Given the description of an element on the screen output the (x, y) to click on. 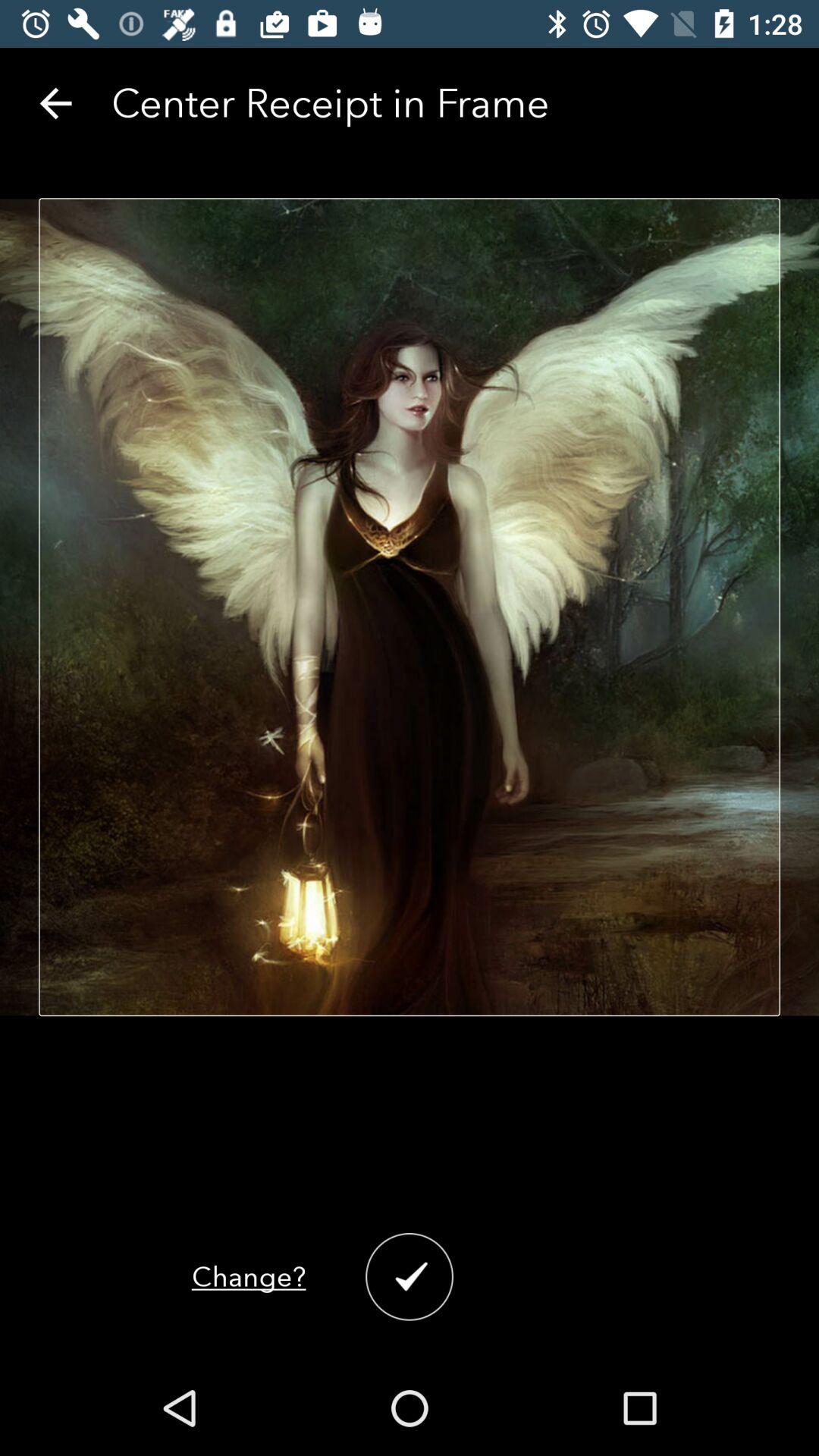
press item next to center receipt in (55, 103)
